Given the description of an element on the screen output the (x, y) to click on. 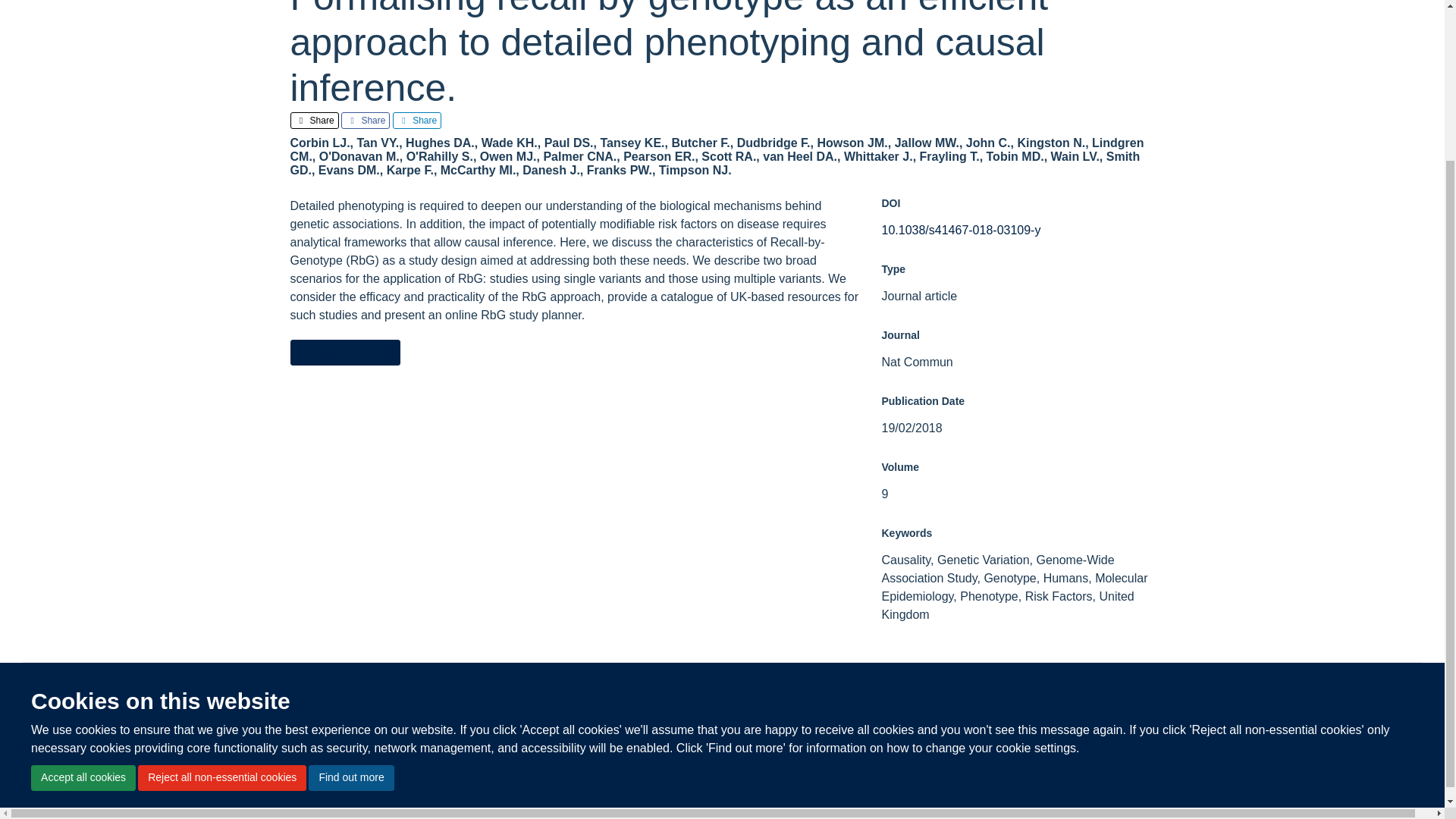
Find out more (350, 585)
Reject all non-essential cookies (221, 585)
Accept all cookies (82, 585)
